Given the description of an element on the screen output the (x, y) to click on. 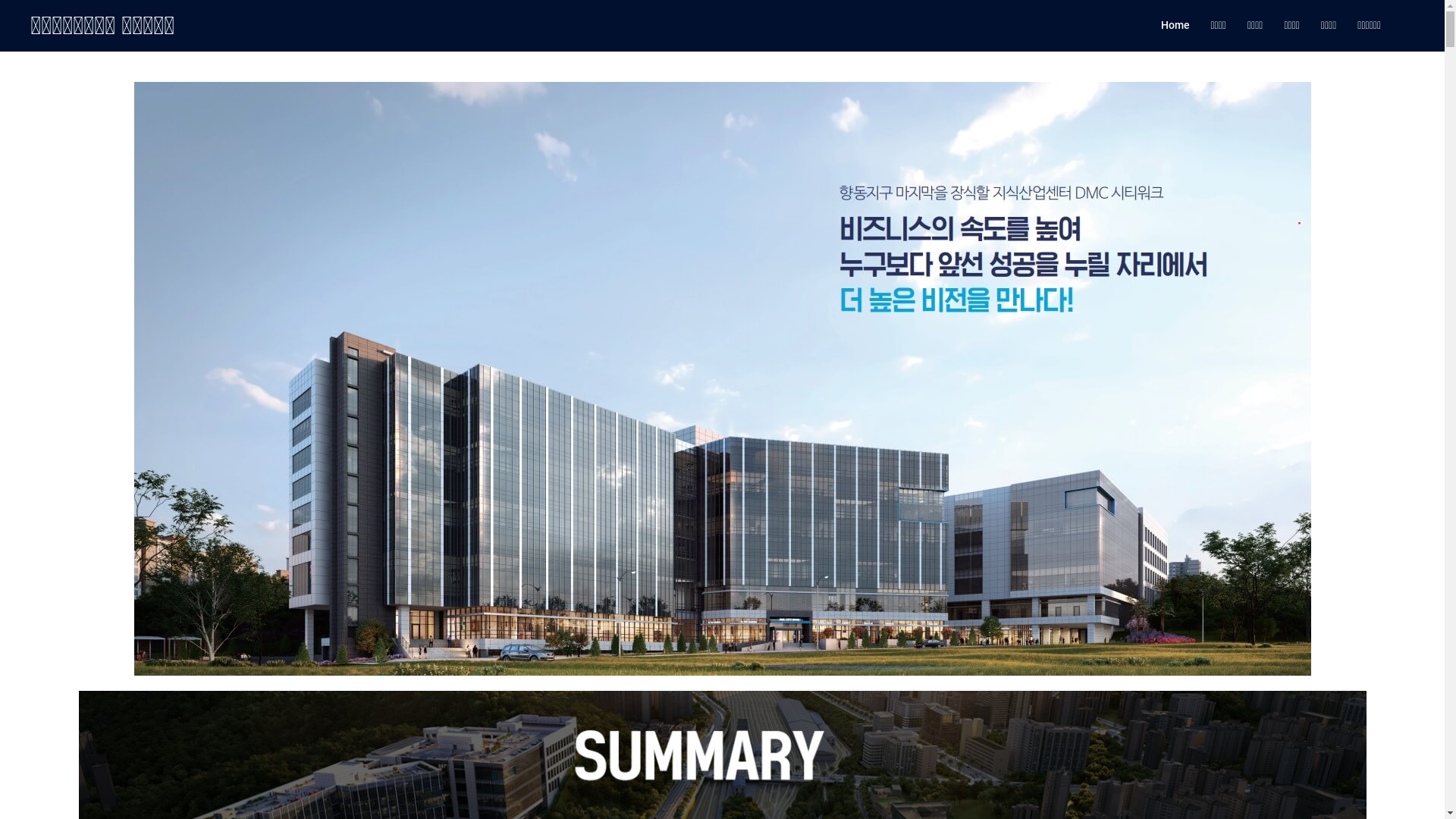
Home Element type: text (1174, 25)
